Given the description of an element on the screen output the (x, y) to click on. 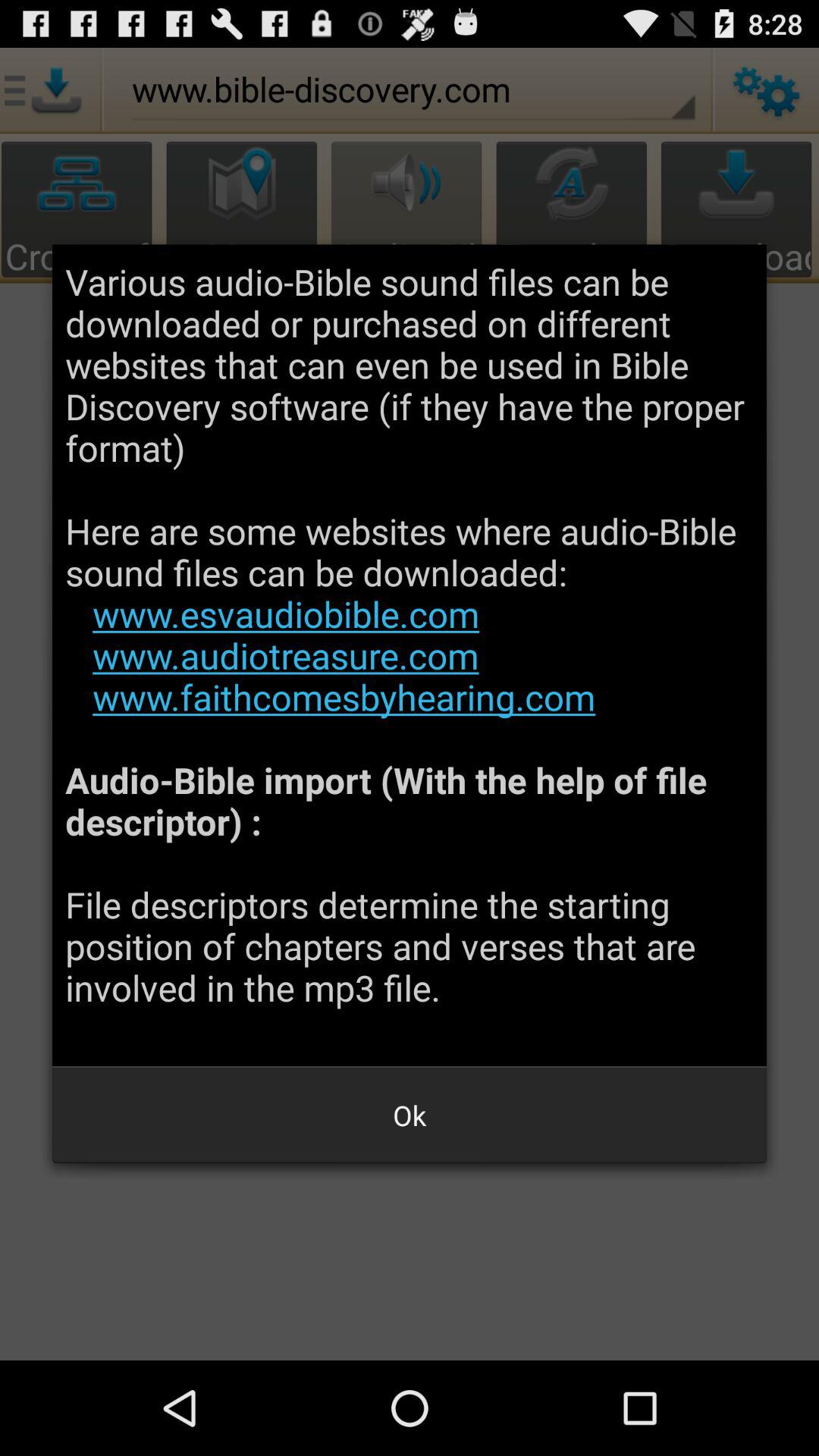
tap various audio bible at the center (409, 655)
